Given the description of an element on the screen output the (x, y) to click on. 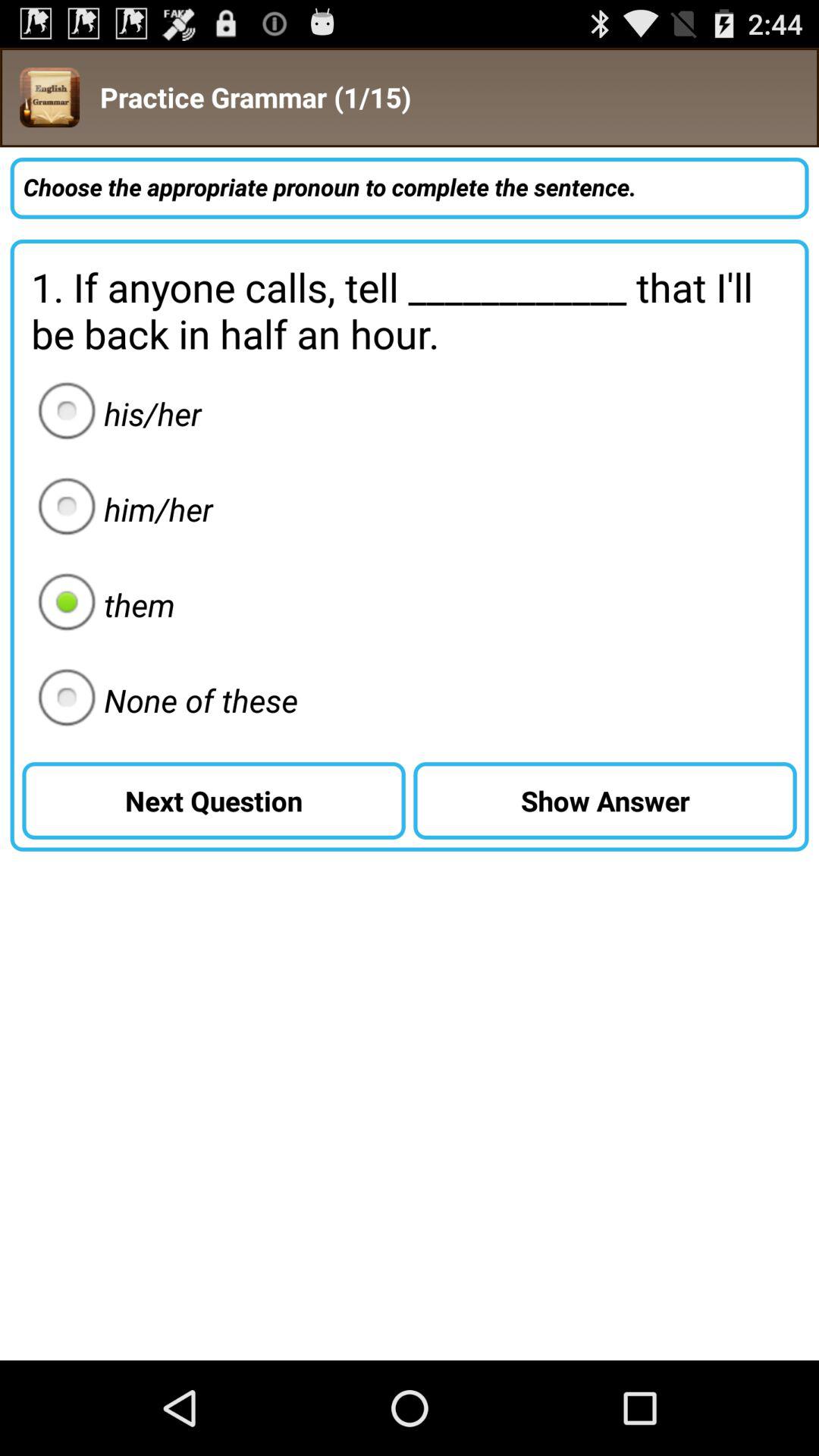
tap radio button above the none of these radio button (101, 604)
